Given the description of an element on the screen output the (x, y) to click on. 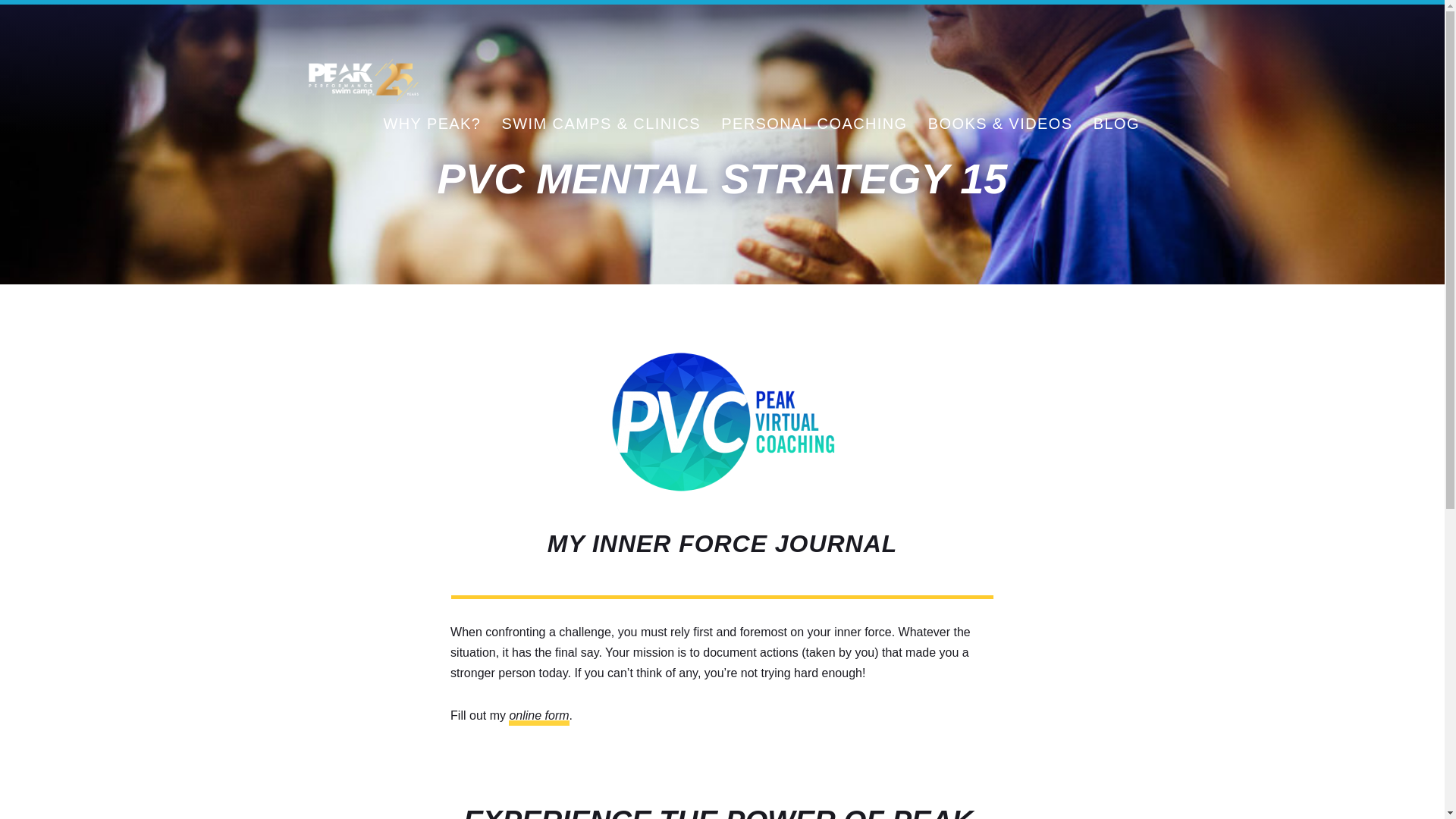
online form (538, 715)
WHY PEAK? (431, 123)
BLOG (1116, 123)
PERSONAL COACHING (813, 123)
